Given the description of an element on the screen output the (x, y) to click on. 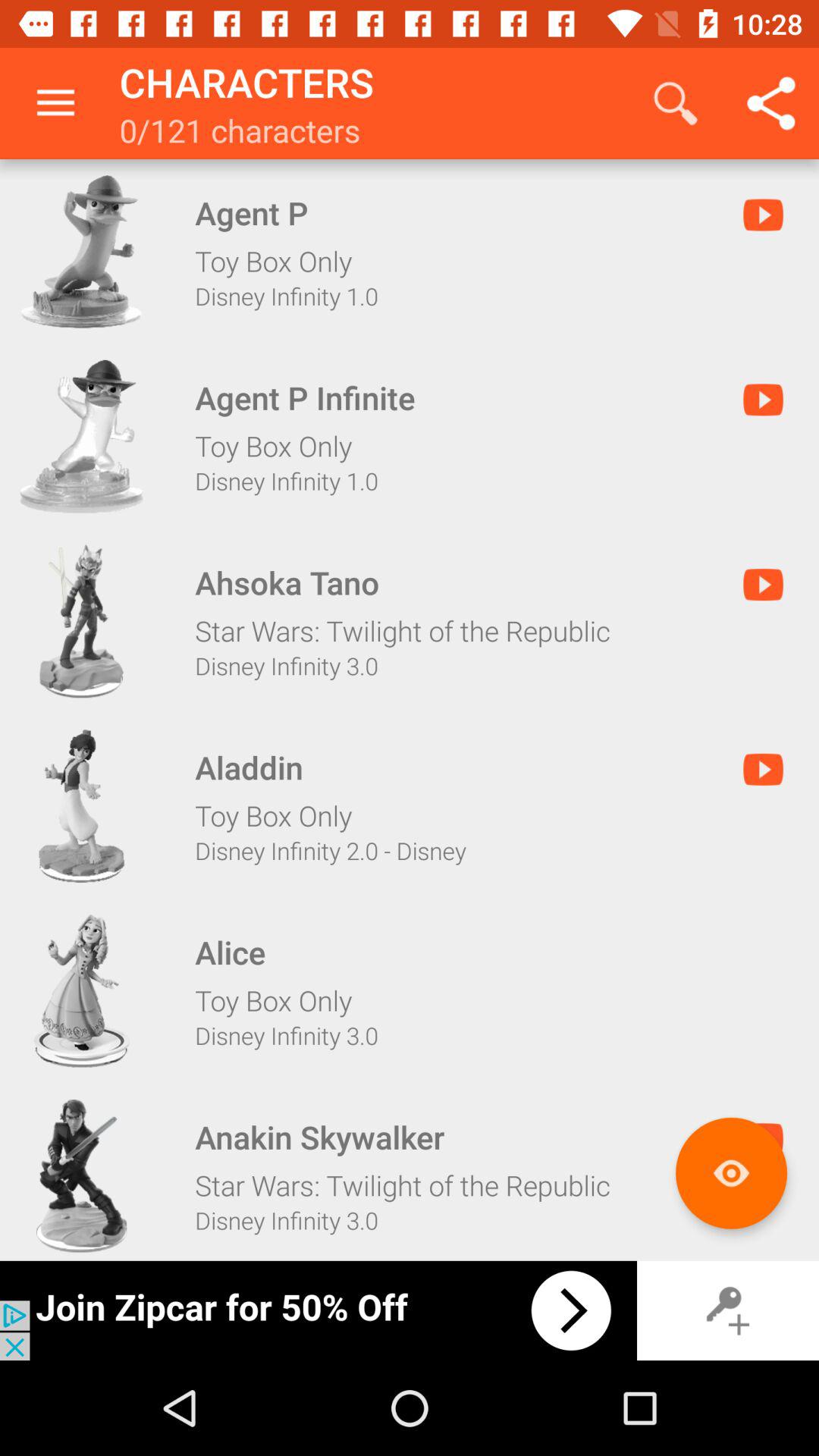
character (81, 436)
